Given the description of an element on the screen output the (x, y) to click on. 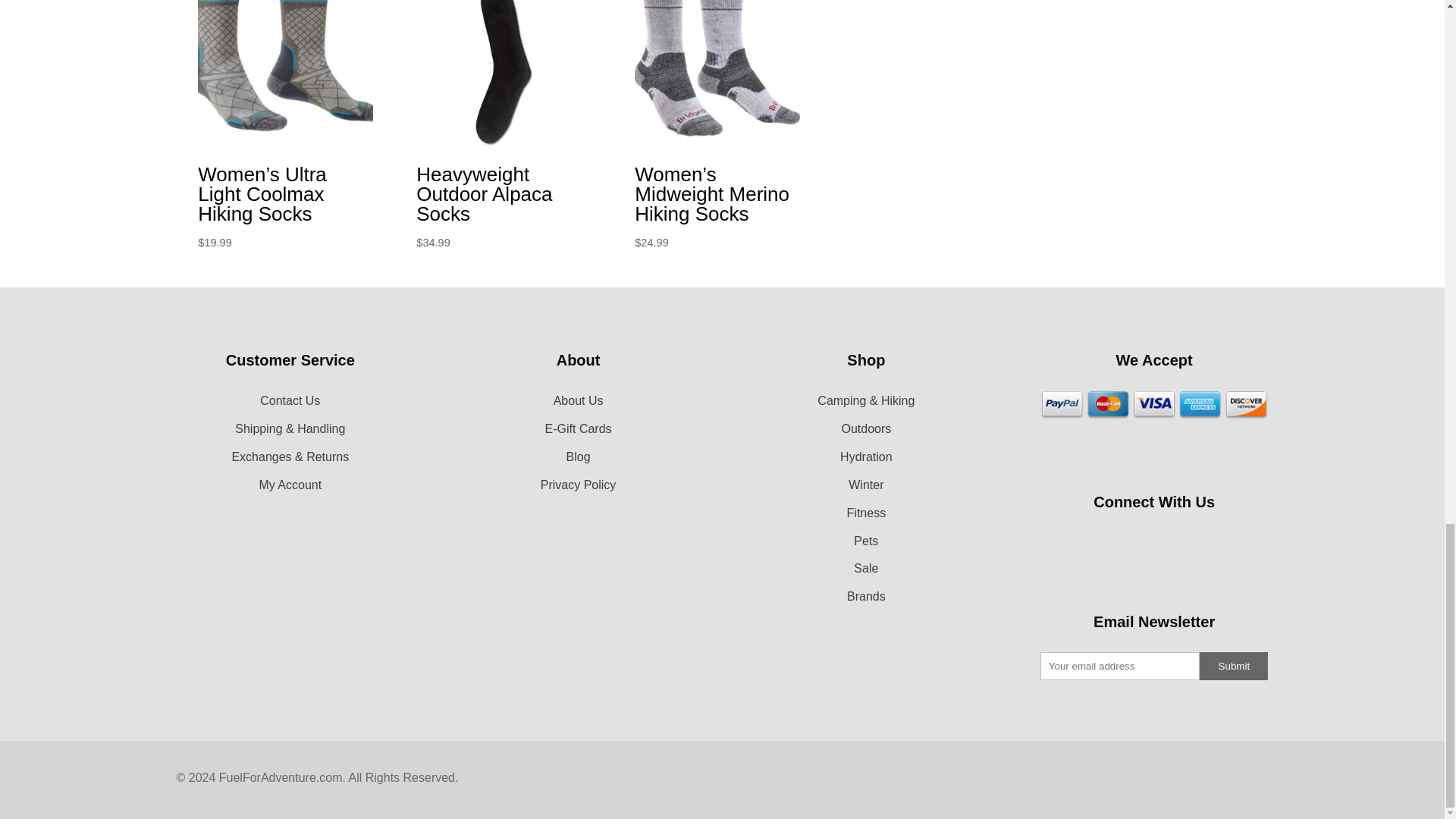
Submit (1233, 665)
